Given the description of an element on the screen output the (x, y) to click on. 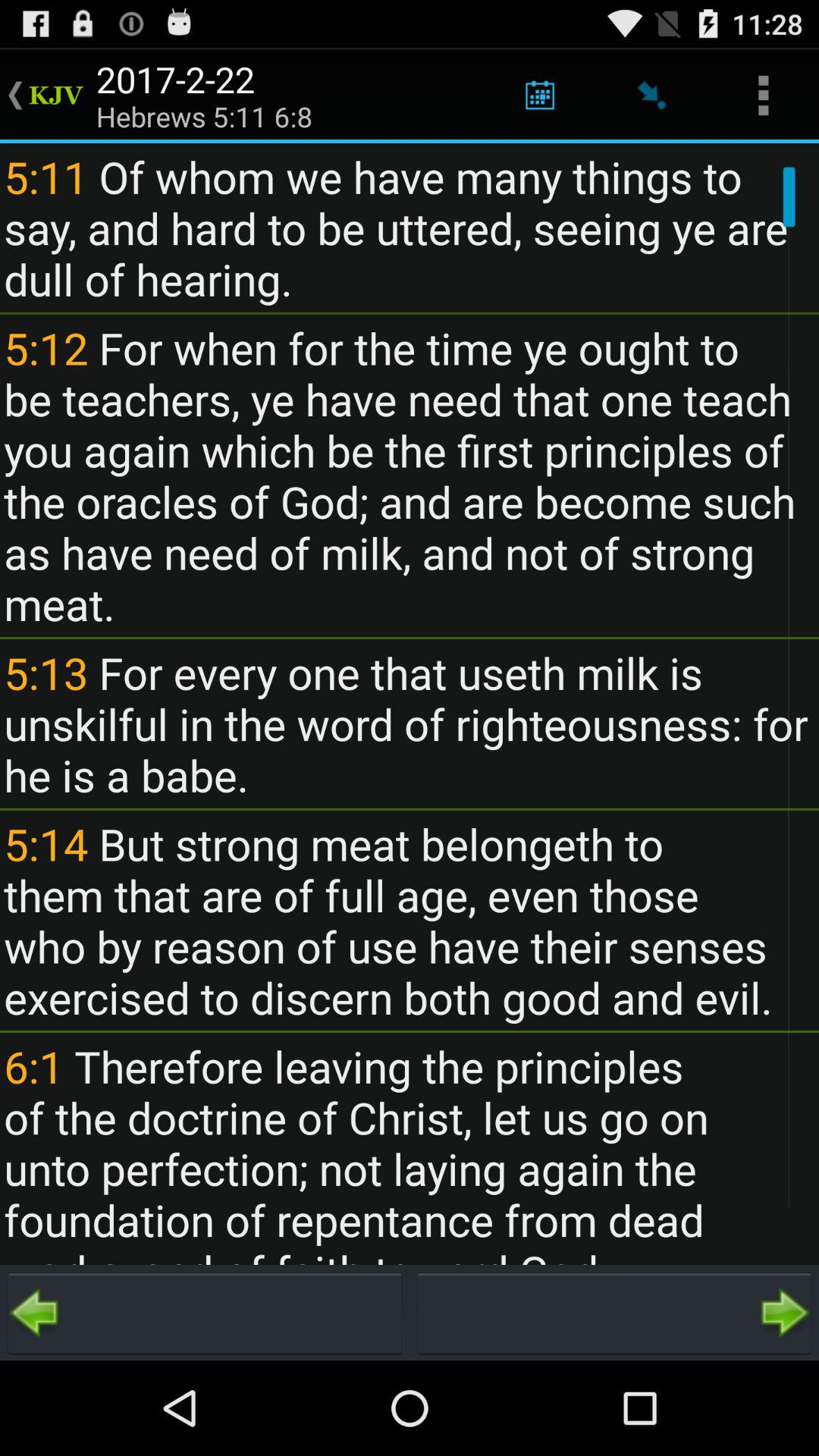
go forward (614, 1312)
